Given the description of an element on the screen output the (x, y) to click on. 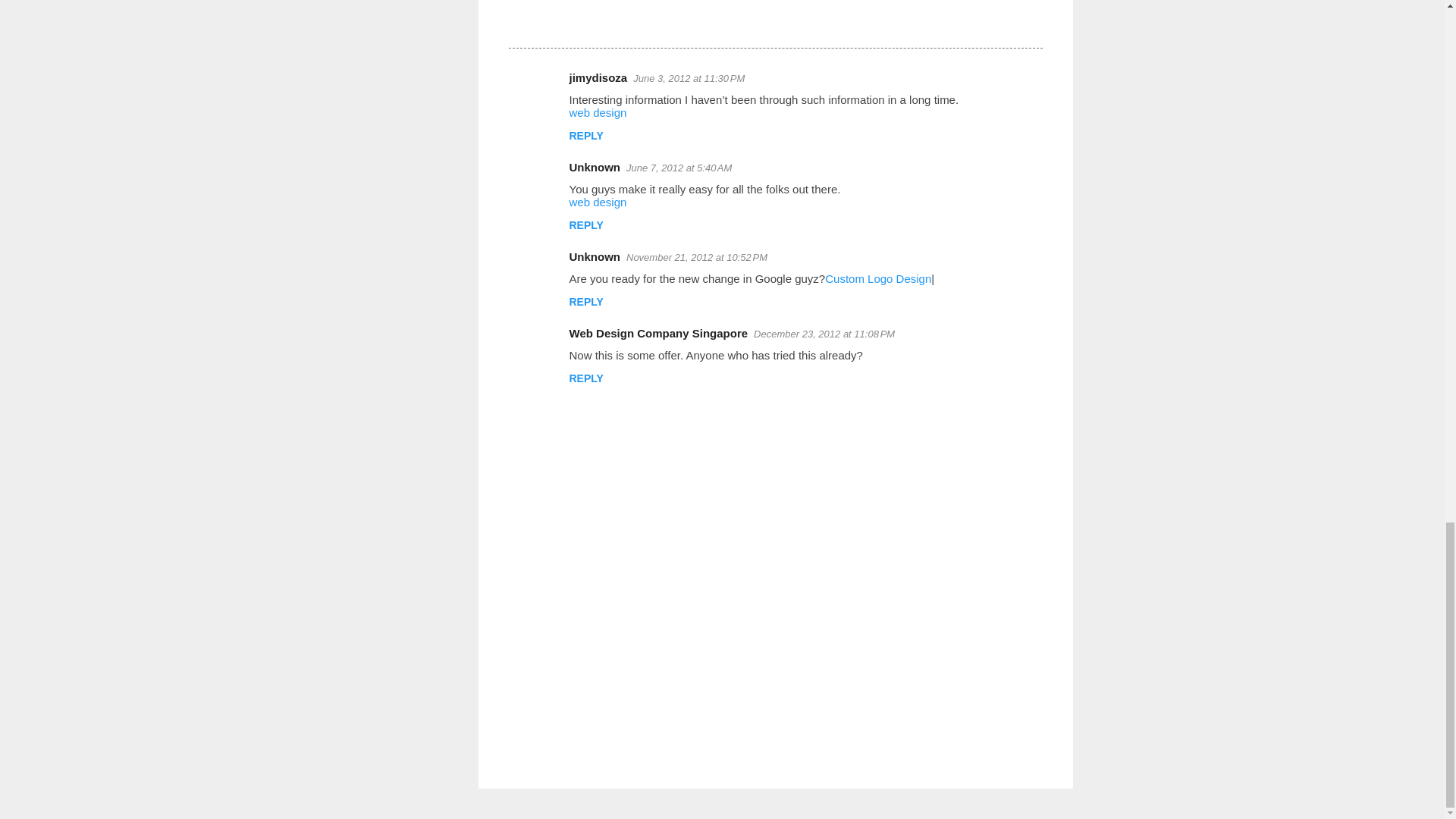
Web Design Company Singapore (658, 332)
web design (597, 112)
Custom Logo Design (878, 278)
jimydisoza (598, 77)
REPLY (585, 224)
REPLY (585, 301)
web design (597, 201)
Unknown (594, 256)
REPLY (585, 135)
Unknown (594, 166)
